Given the description of an element on the screen output the (x, y) to click on. 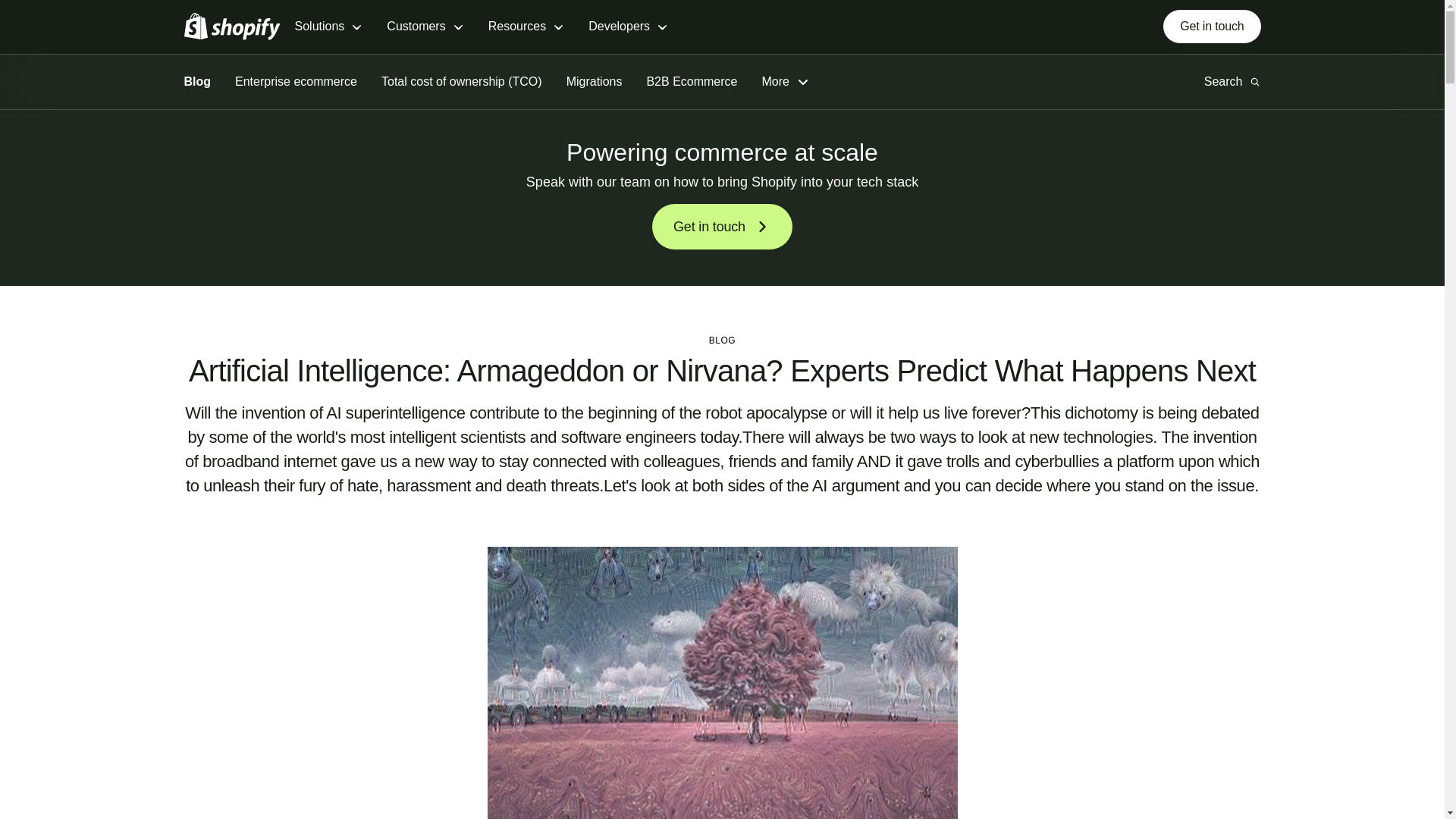
Developers (628, 27)
Customers (425, 27)
Resources (525, 27)
Solutions (328, 27)
